Given the description of an element on the screen output the (x, y) to click on. 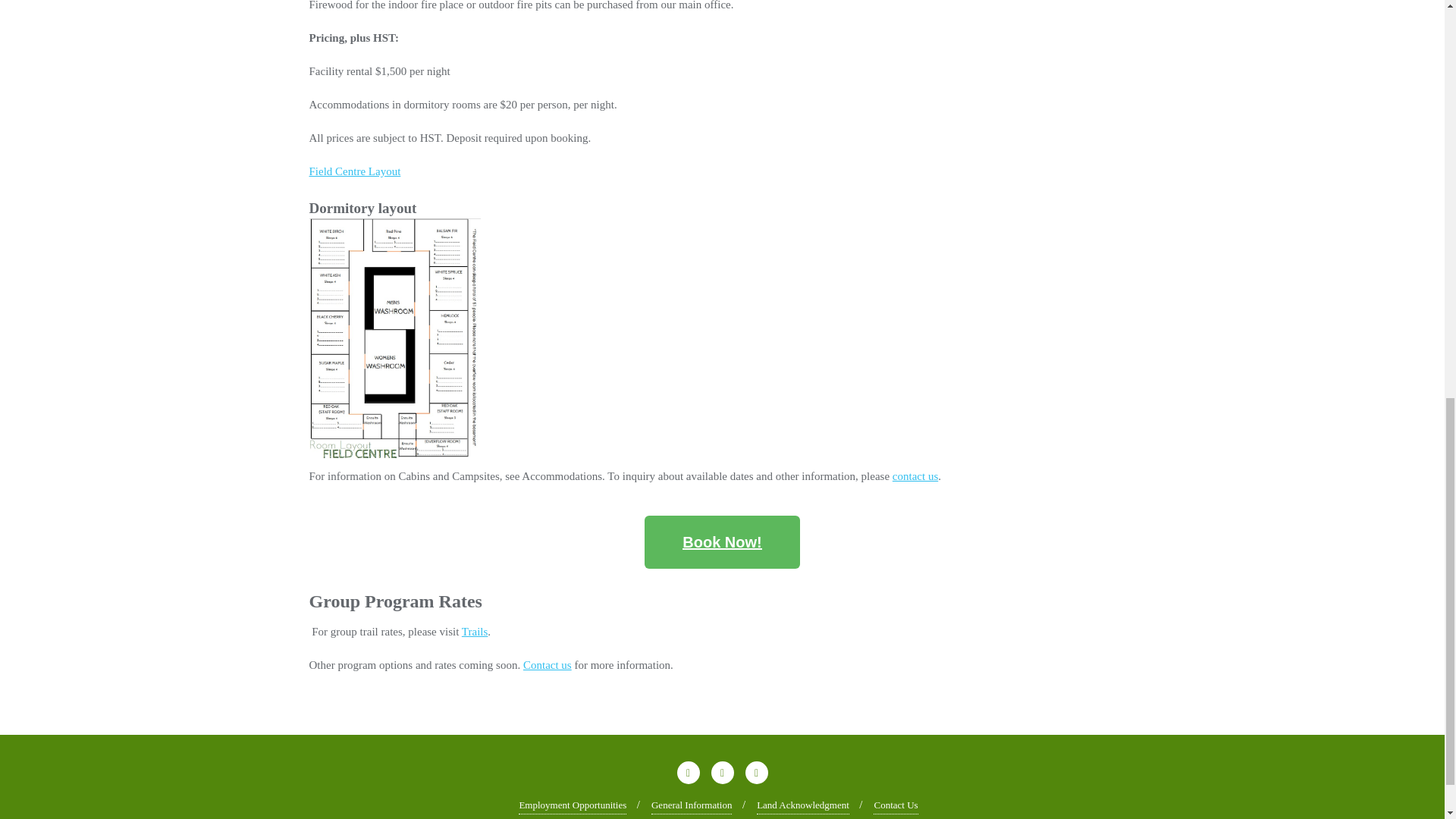
contact us (914, 476)
Field Centre Layout (354, 171)
Book Now! (722, 541)
